Given the description of an element on the screen output the (x, y) to click on. 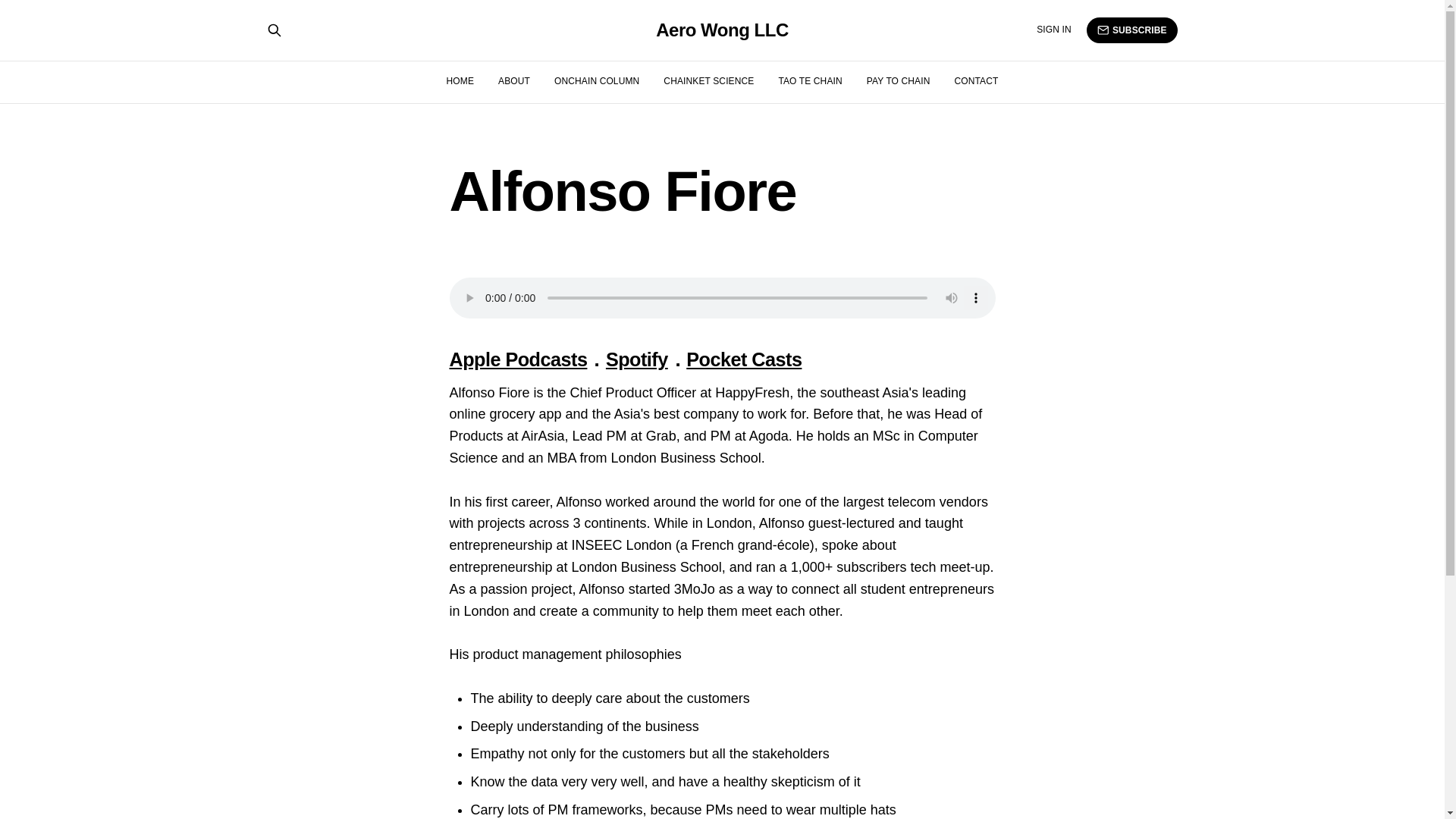
Pocket Casts (743, 359)
CONTACT (975, 81)
ABOUT (513, 81)
CHAINKET SCIENCE (708, 81)
SUBSCRIBE (1131, 30)
TAO TE CHAIN (809, 81)
Spotify (636, 359)
Aero Wong LLC (722, 30)
PAY TO CHAIN (898, 81)
SIGN IN (1053, 29)
